Given the description of an element on the screen output the (x, y) to click on. 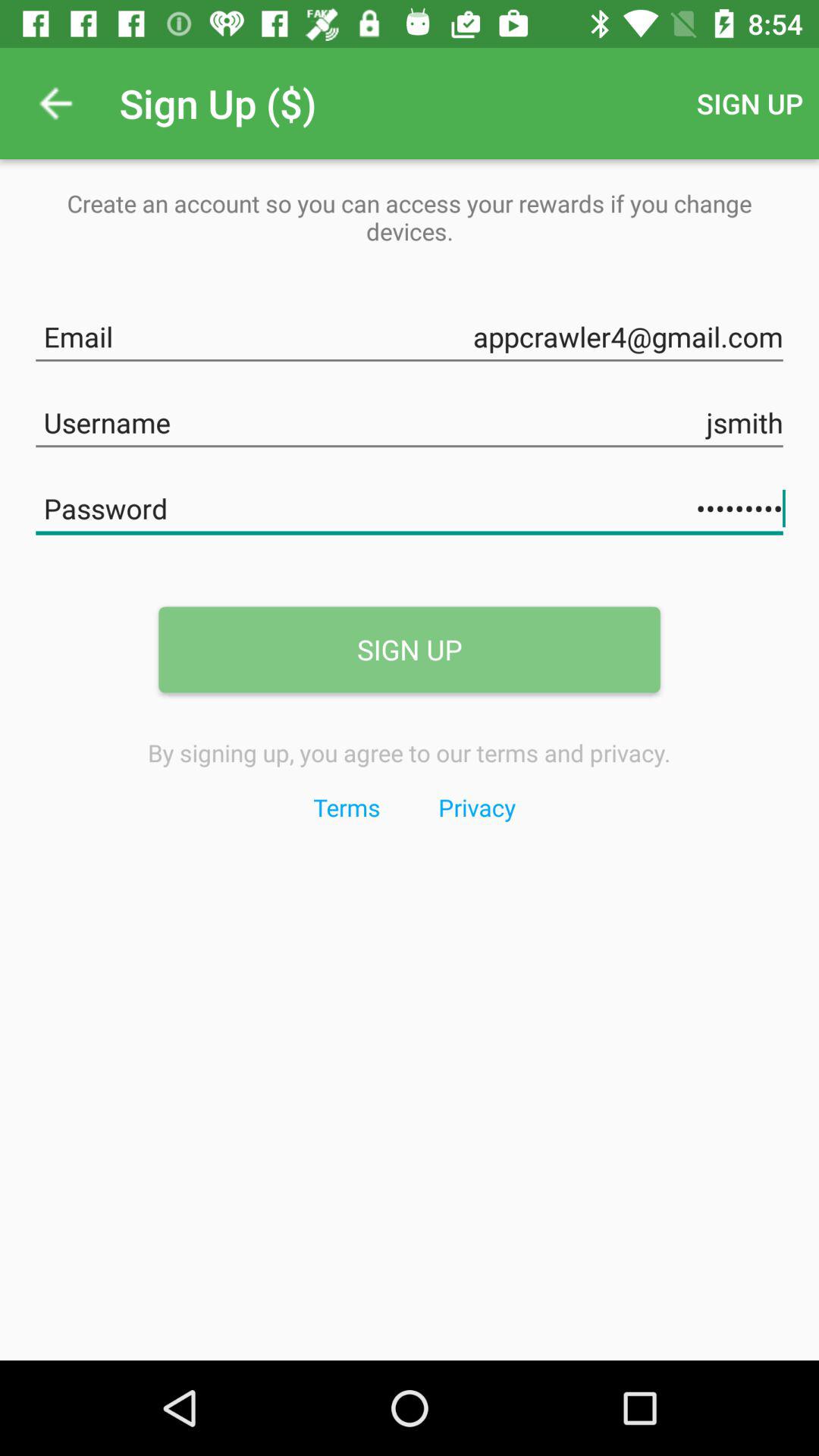
tap the icon above jsmith item (409, 334)
